Given the description of an element on the screen output the (x, y) to click on. 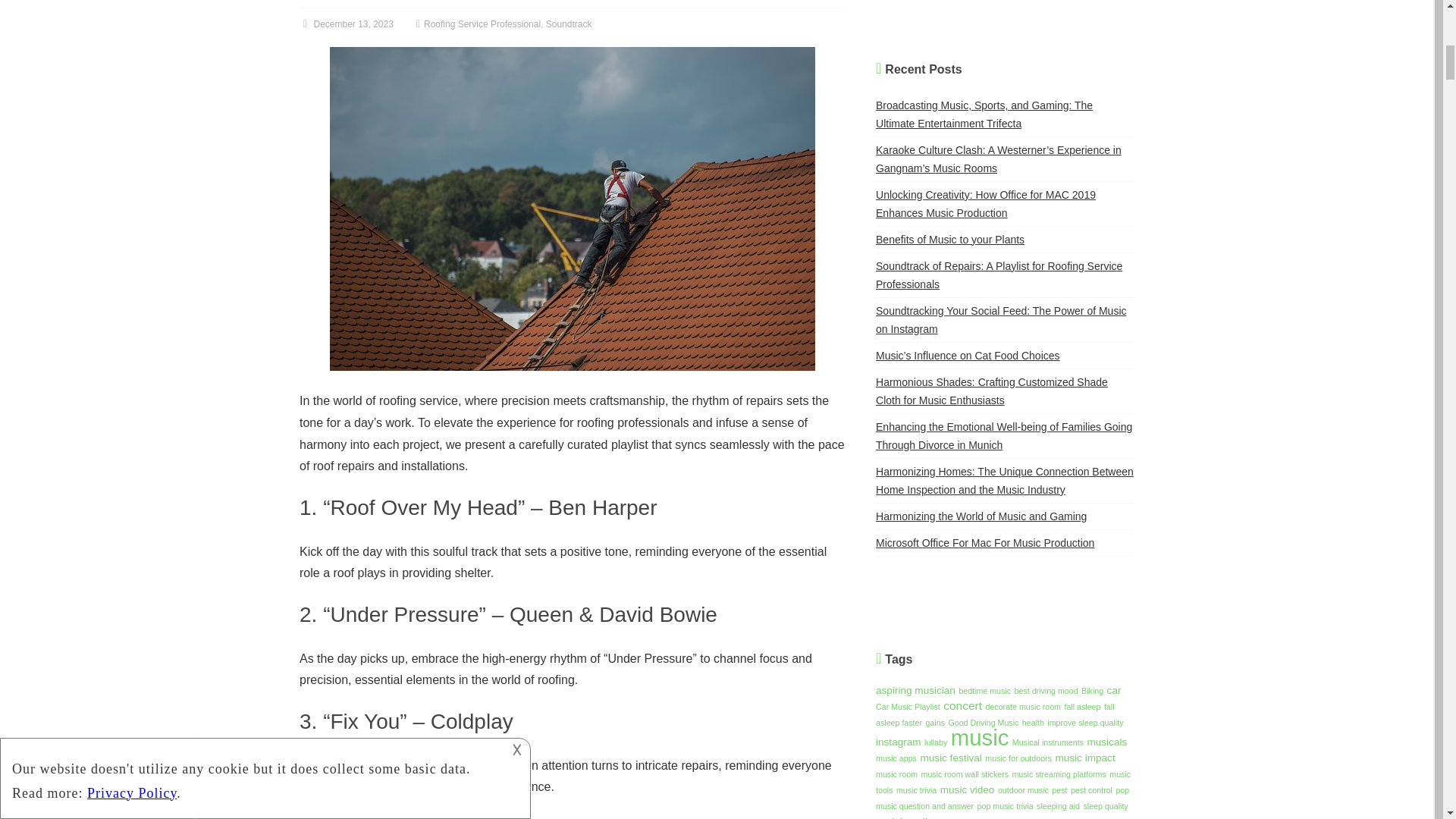
12:26 am (346, 23)
December 13, 2023 (346, 23)
Roofing Service Professional (481, 23)
Soundtrack (569, 23)
